Given the description of an element on the screen output the (x, y) to click on. 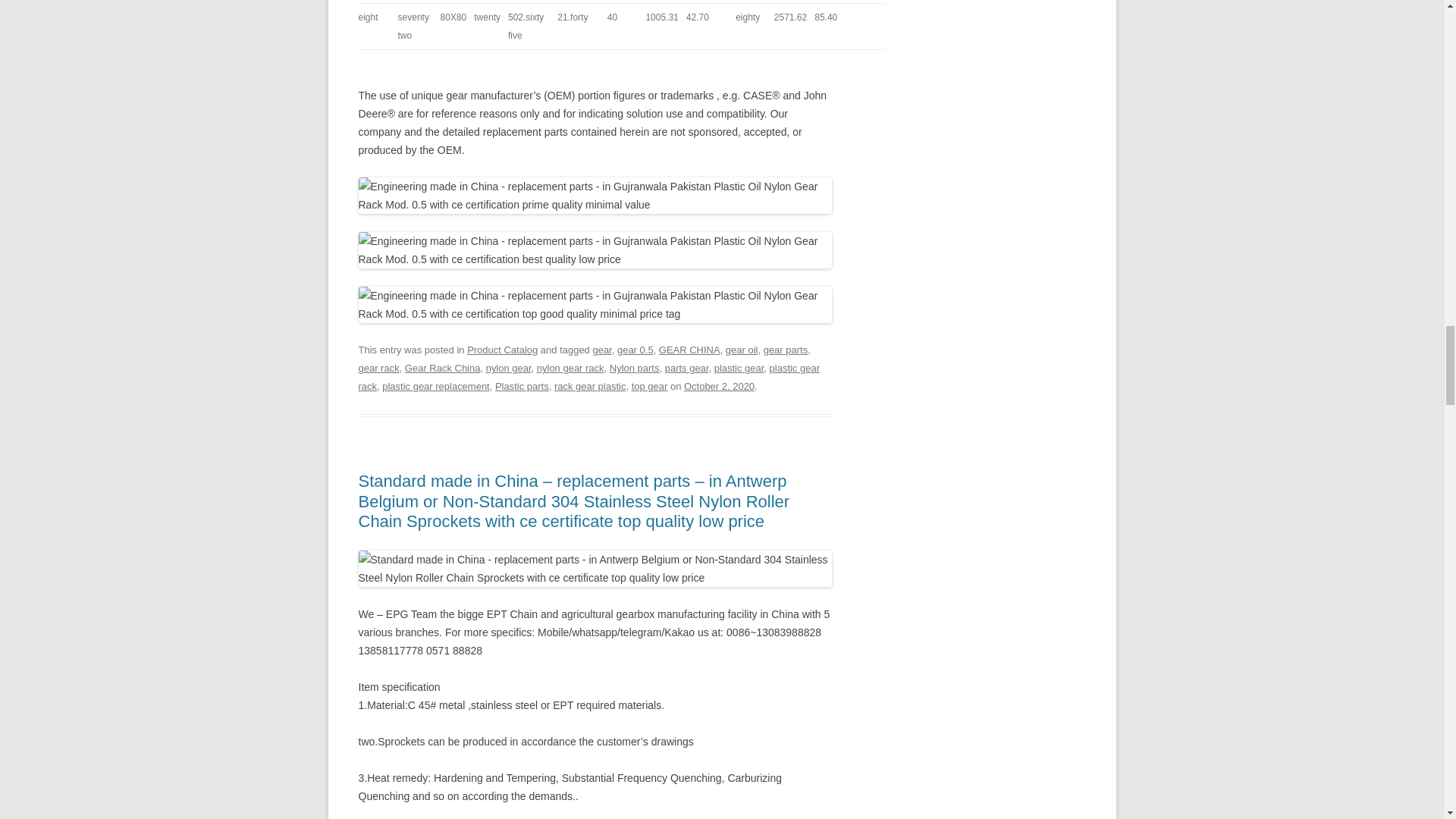
gear (601, 349)
Gear Rack China (442, 367)
gear parts (785, 349)
plastic gear (739, 367)
gear 0.5 (635, 349)
8:15 am (719, 386)
Product Catalog (502, 349)
gear rack (378, 367)
gear oil (741, 349)
Nylon parts (634, 367)
